Given the description of an element on the screen output the (x, y) to click on. 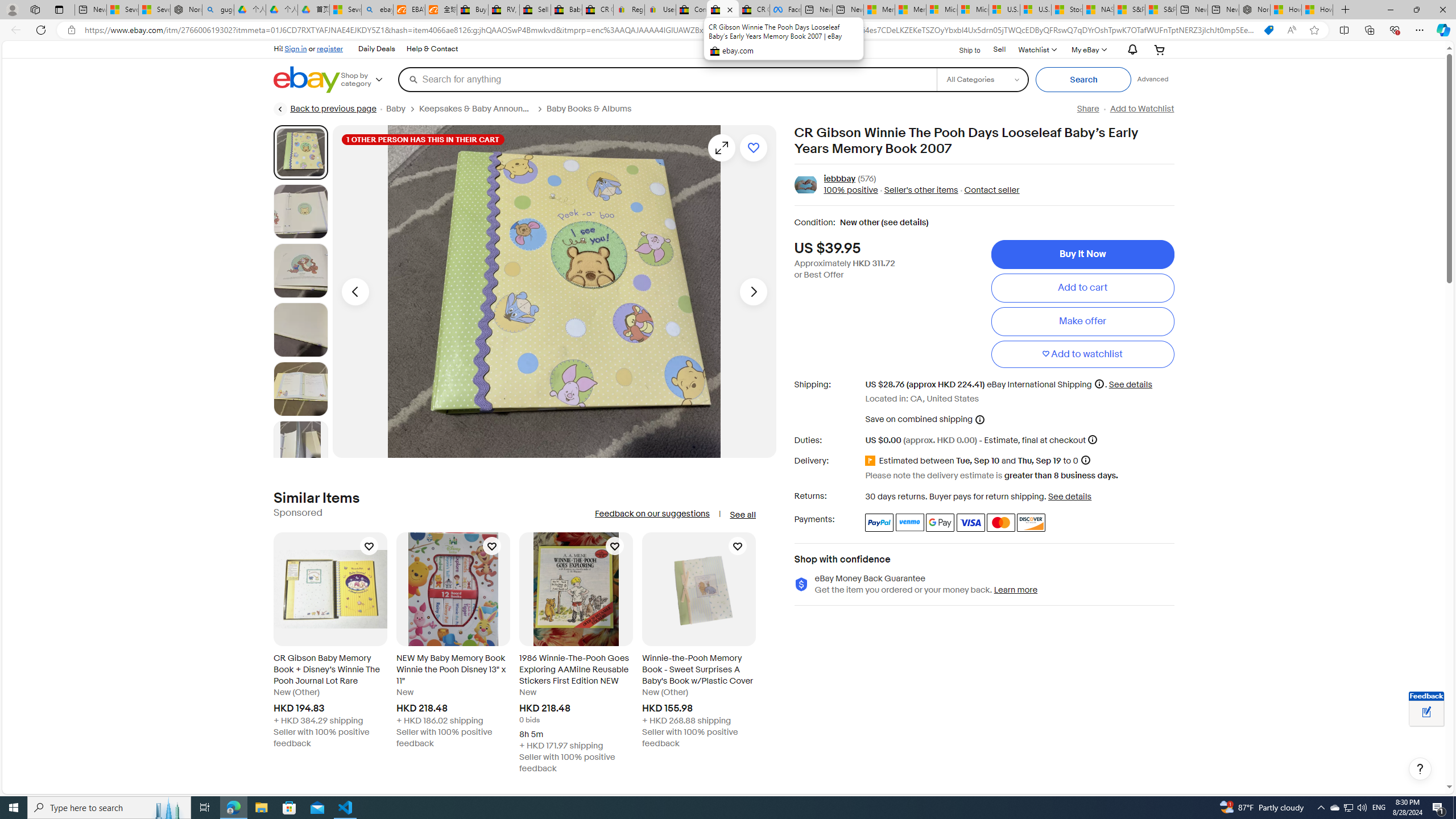
guge yunpan - Search (218, 9)
ebay - Search (376, 9)
Help, opens dialogs (1420, 768)
Consumer Health Data Privacy Policy - eBay Inc. (691, 9)
Search for anything (666, 78)
  Contact seller (988, 190)
Visa (970, 521)
Delivery alert flag (871, 460)
Keepsakes & Baby Announcements (475, 108)
Sell worldwide with eBay (535, 9)
Refresh (40, 29)
